Given the description of an element on the screen output the (x, y) to click on. 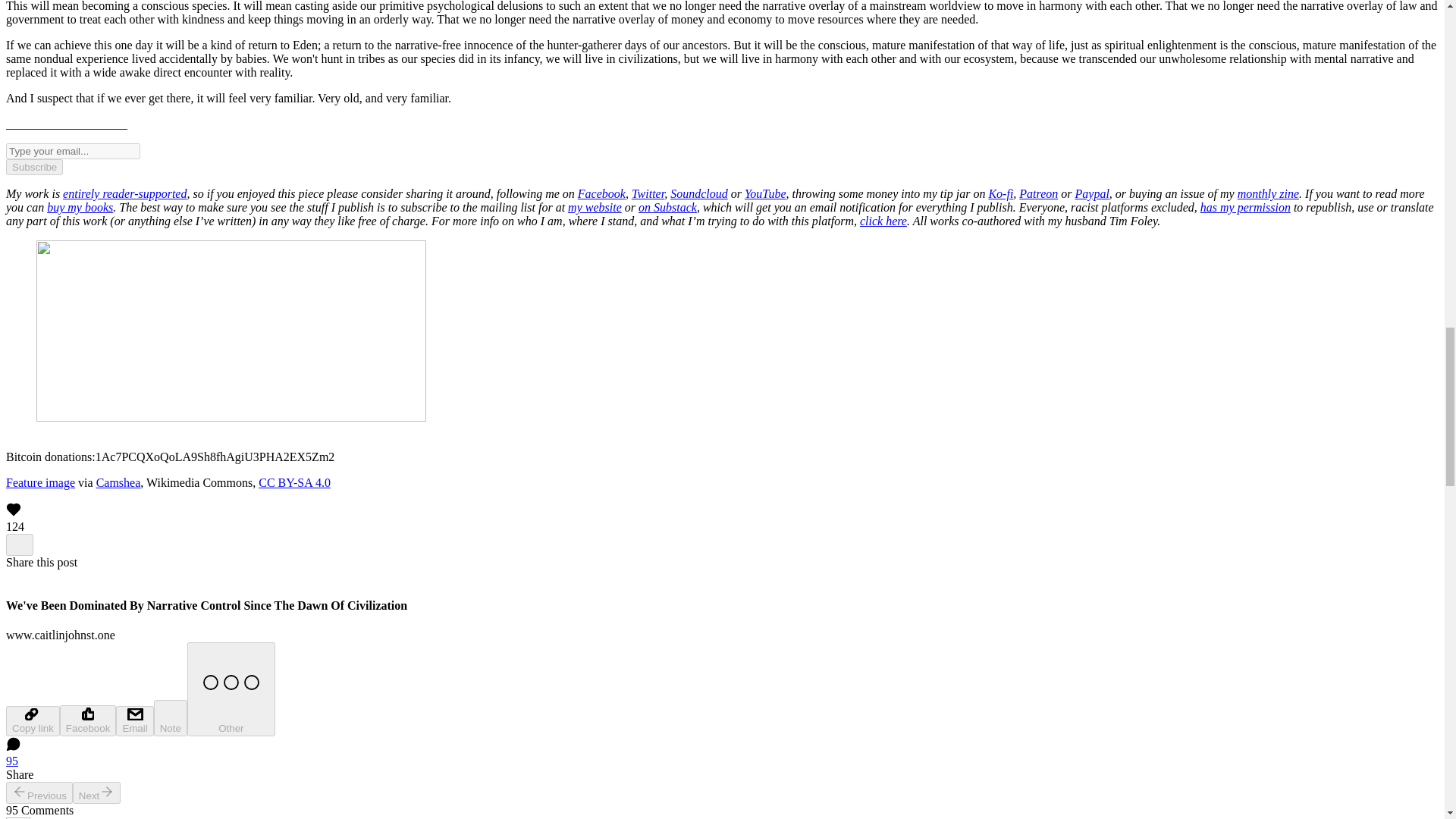
Soundcloud (698, 193)
YouTube (765, 193)
entirely reader-supported (124, 193)
Ko-fi (1000, 193)
Facebook (602, 193)
Subscribe (33, 166)
Twitter (647, 193)
